Given the description of an element on the screen output the (x, y) to click on. 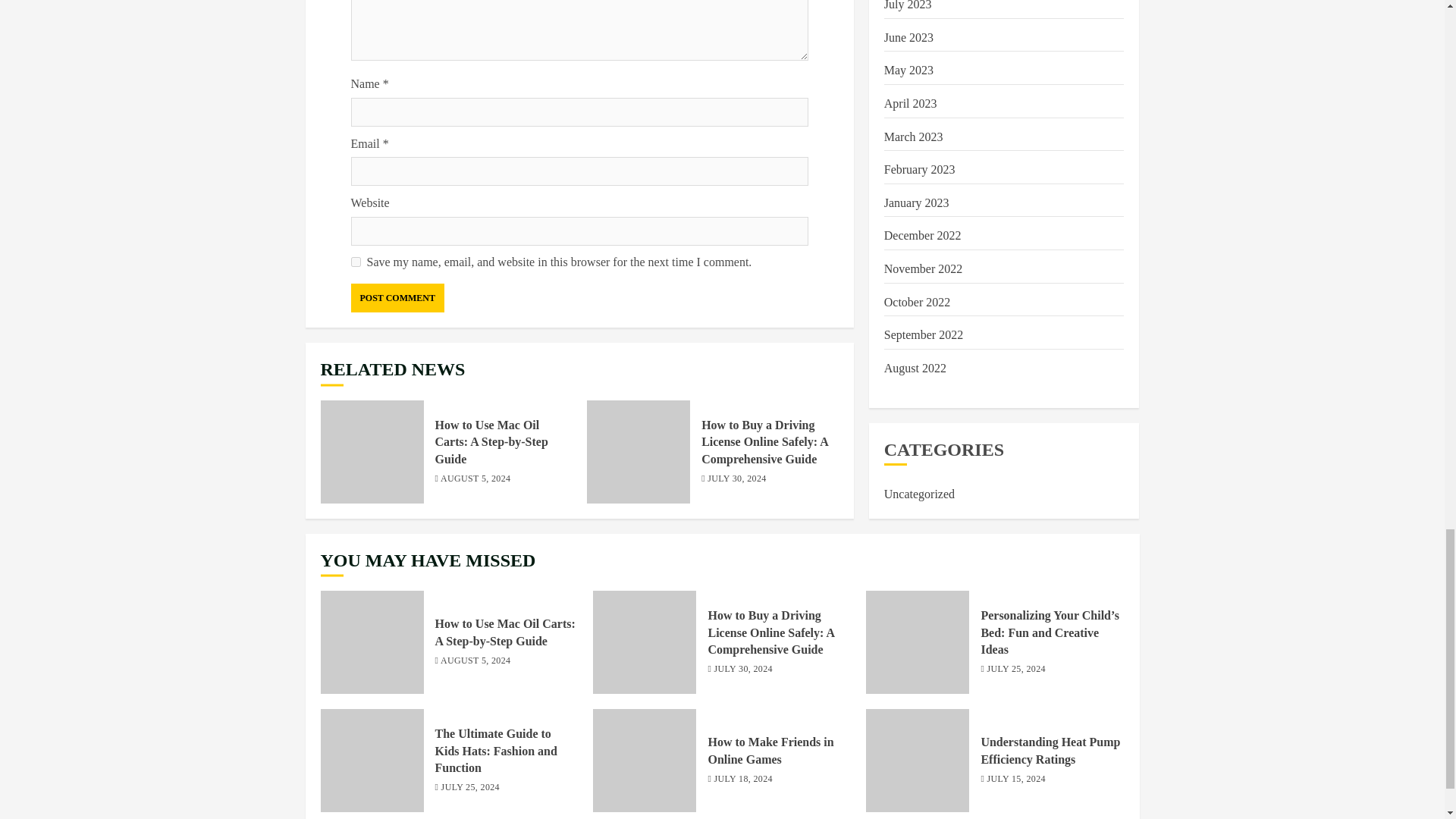
yes (354, 261)
Post Comment (397, 297)
Post Comment (397, 297)
How to Use Mac Oil Carts: A Step-by-Step Guide (491, 442)
How to Use Mac Oil Carts: A Step-by-Step Guide (371, 451)
